Given the description of an element on the screen output the (x, y) to click on. 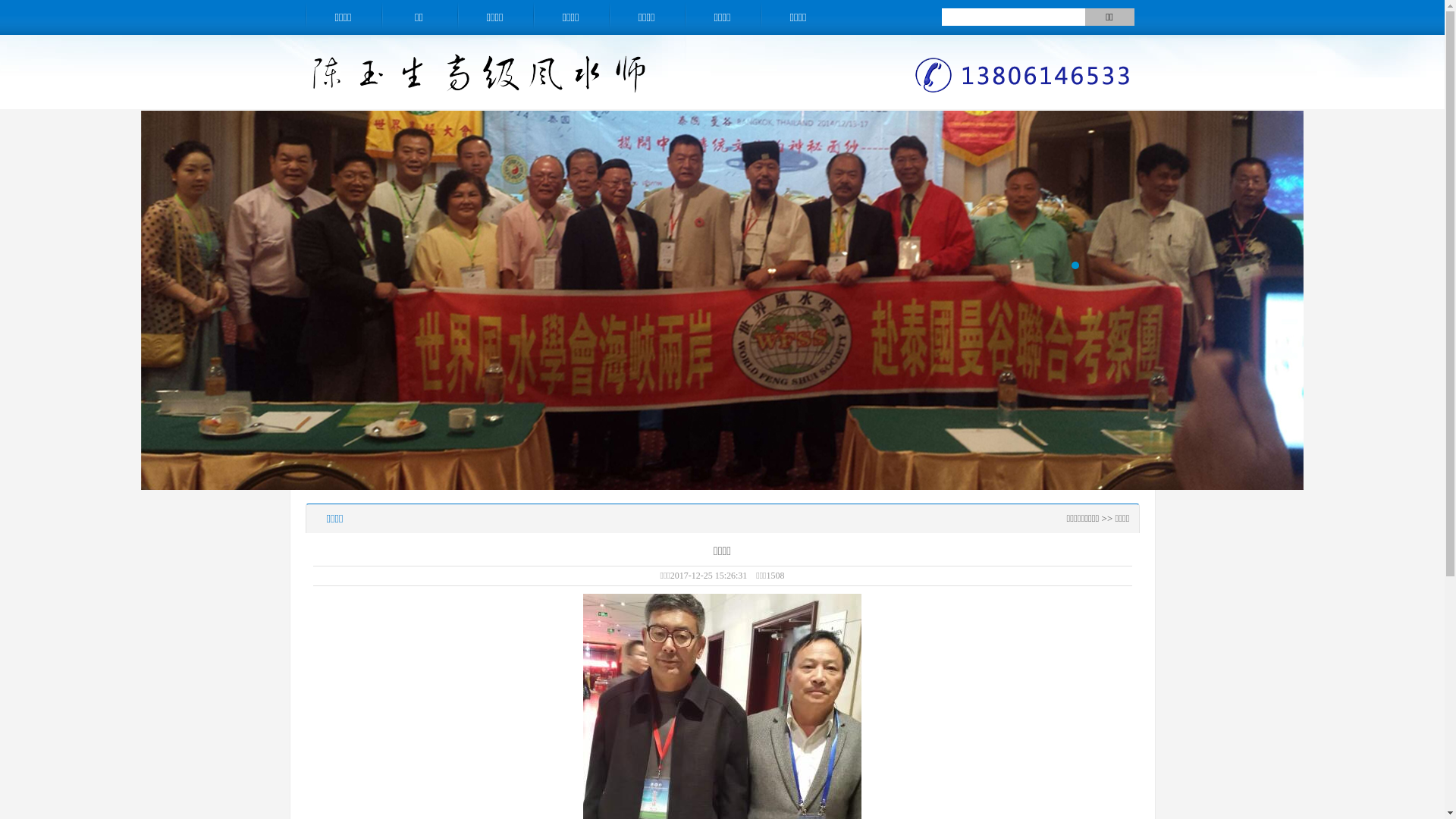
1 Element type: text (1074, 265)
